Given the description of an element on the screen output the (x, y) to click on. 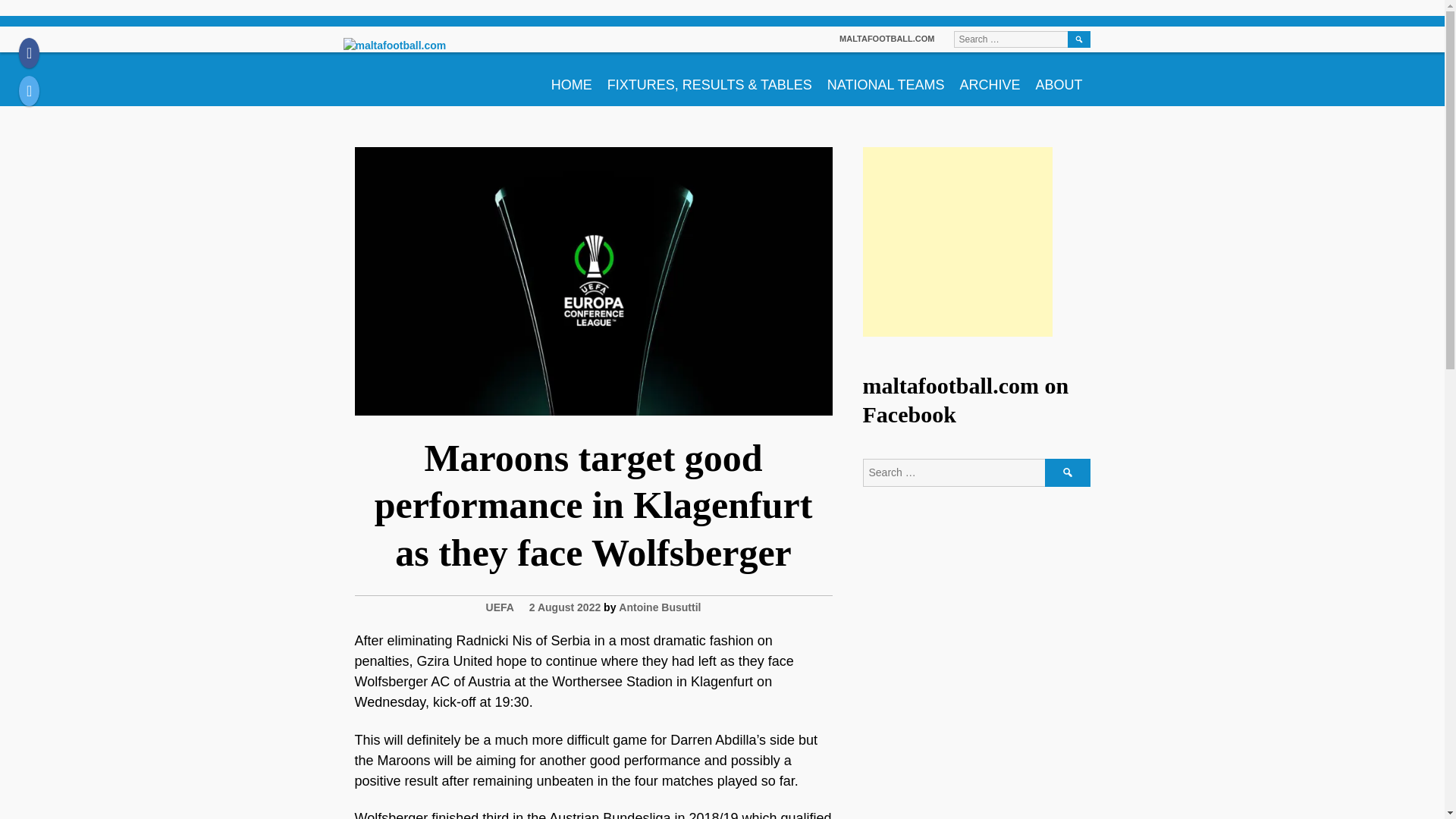
Search (1078, 39)
ARCHIVE (989, 79)
Search (1067, 472)
NATIONAL TEAMS (885, 79)
MALTAFOOTBALL.COM (887, 38)
HOME (571, 79)
